Given the description of an element on the screen output the (x, y) to click on. 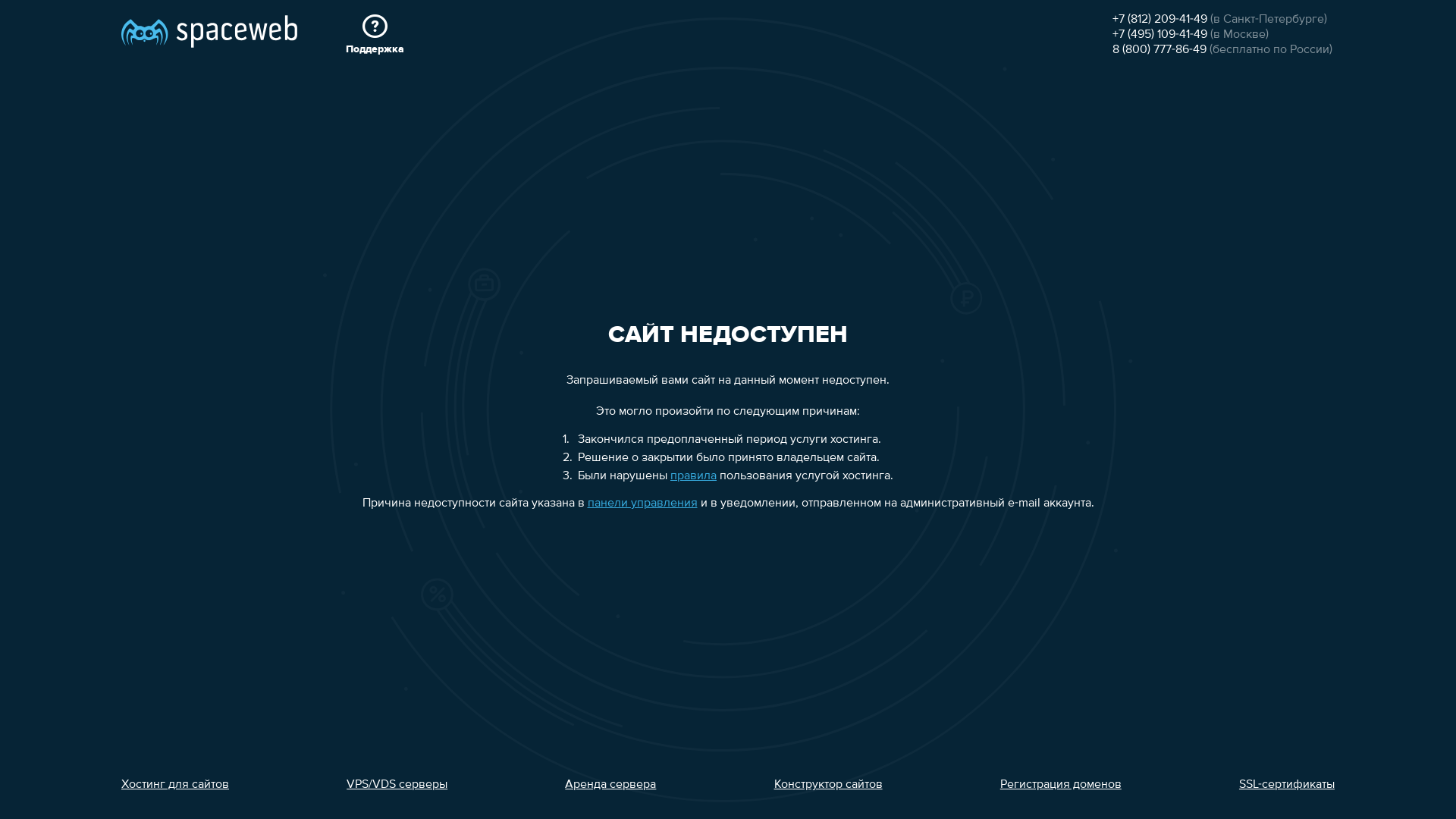
8 (800) 777-86-49 Element type: text (1159, 49)
+7 (812) 209-41-49 Element type: text (1159, 19)
+7 (495) 109-41-49 Element type: text (1159, 34)
